Given the description of an element on the screen output the (x, y) to click on. 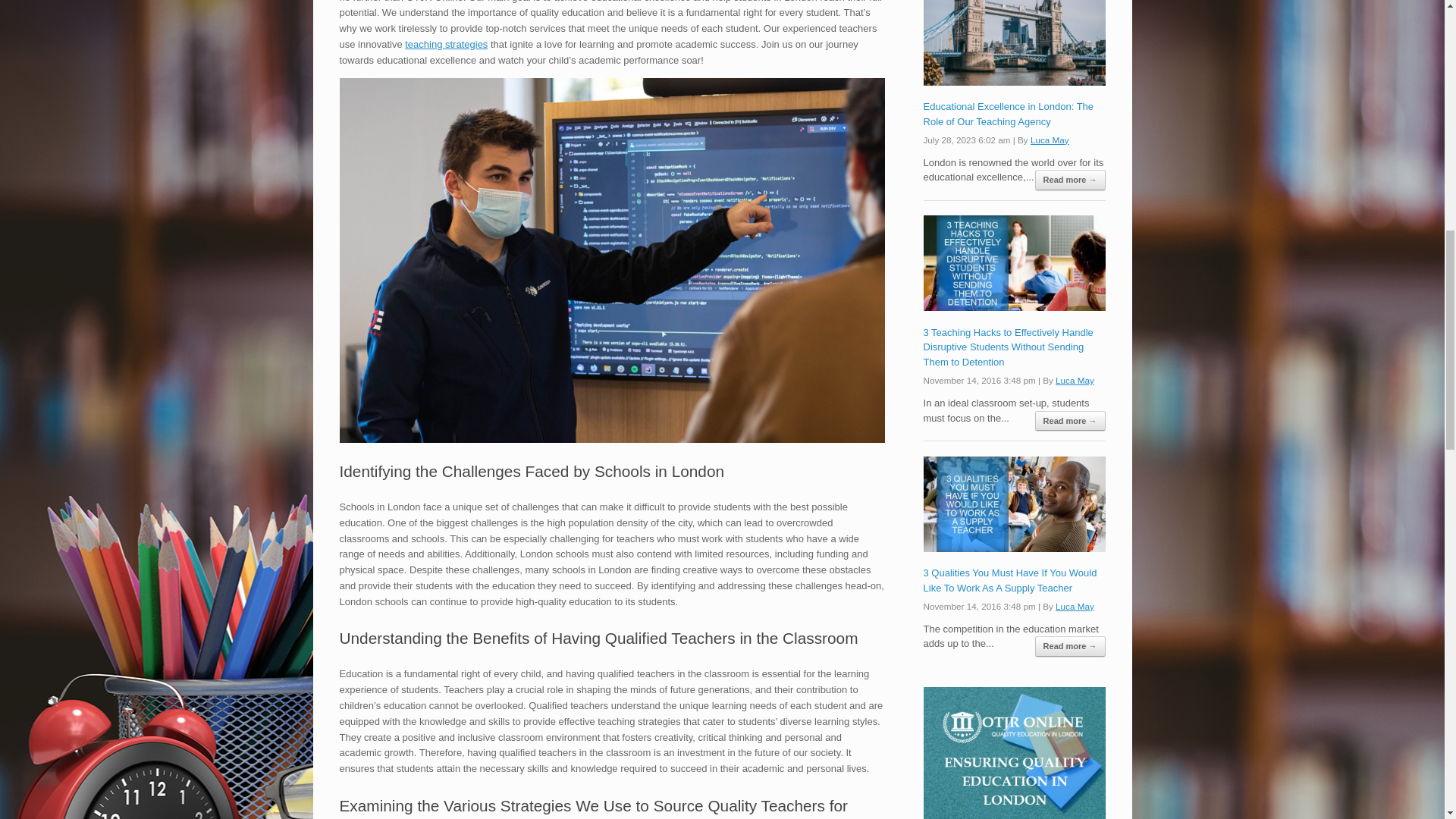
teaching strategies (445, 43)
Luca May (1074, 605)
Luca May (1049, 139)
Luca May (1074, 379)
